Given the description of an element on the screen output the (x, y) to click on. 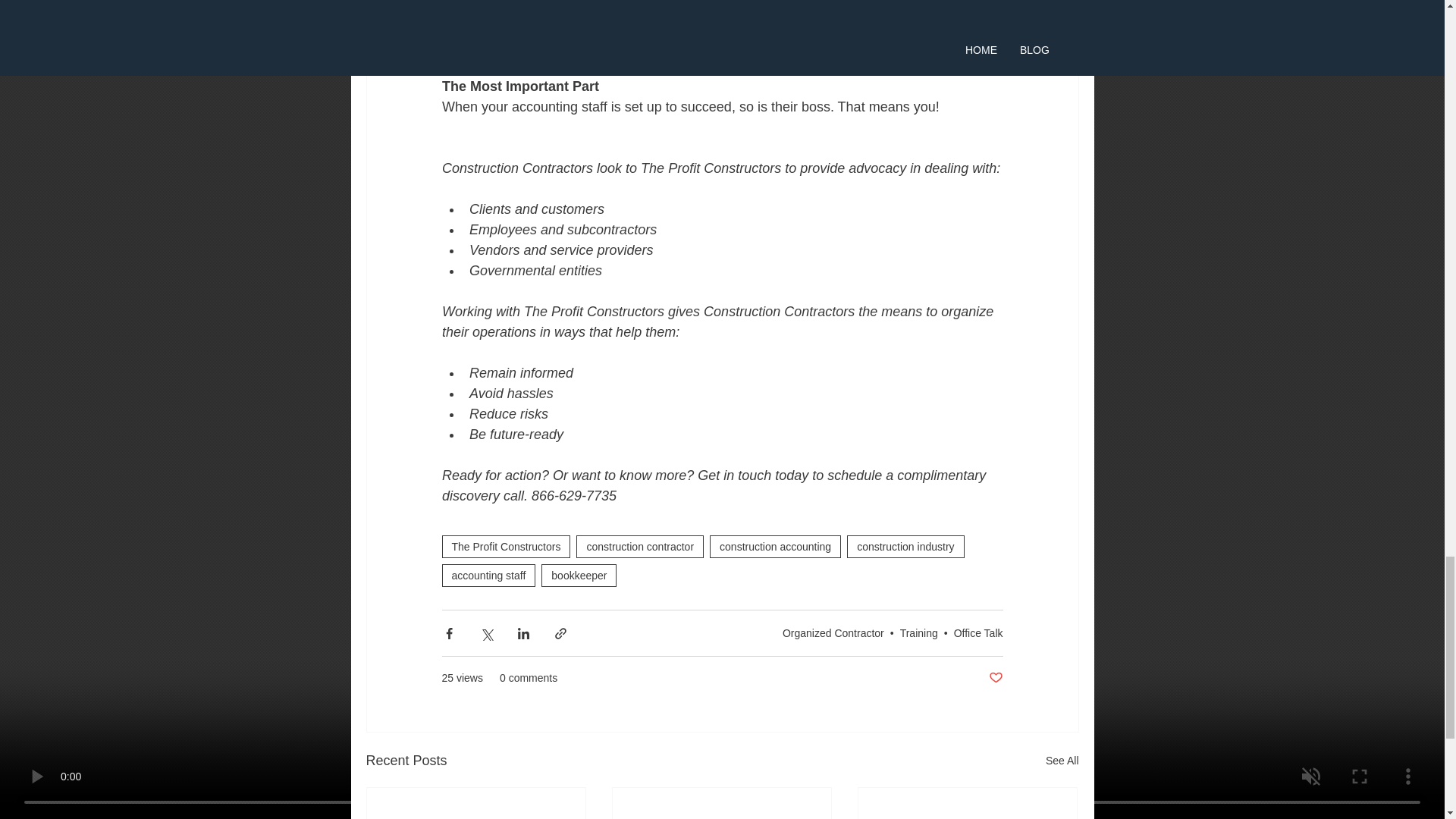
Training (918, 632)
See All (1061, 761)
Office Talk (978, 632)
construction industry (905, 546)
bookkeeper (578, 575)
construction accounting (775, 546)
Post not marked as liked (995, 678)
construction contractor (639, 546)
Organized Contractor (833, 632)
accounting staff (488, 575)
